Given the description of an element on the screen output the (x, y) to click on. 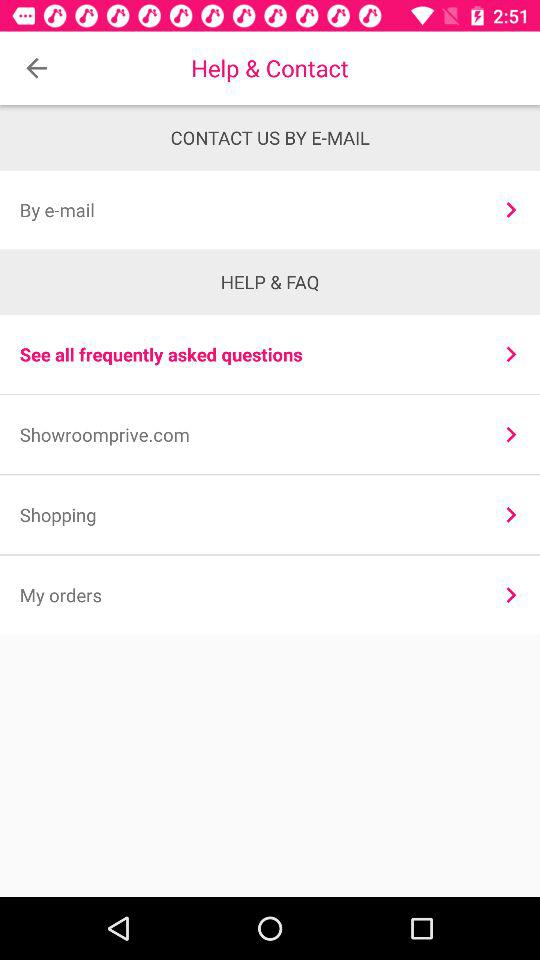
press icon to the right of see all frequently icon (510, 354)
